Given the description of an element on the screen output the (x, y) to click on. 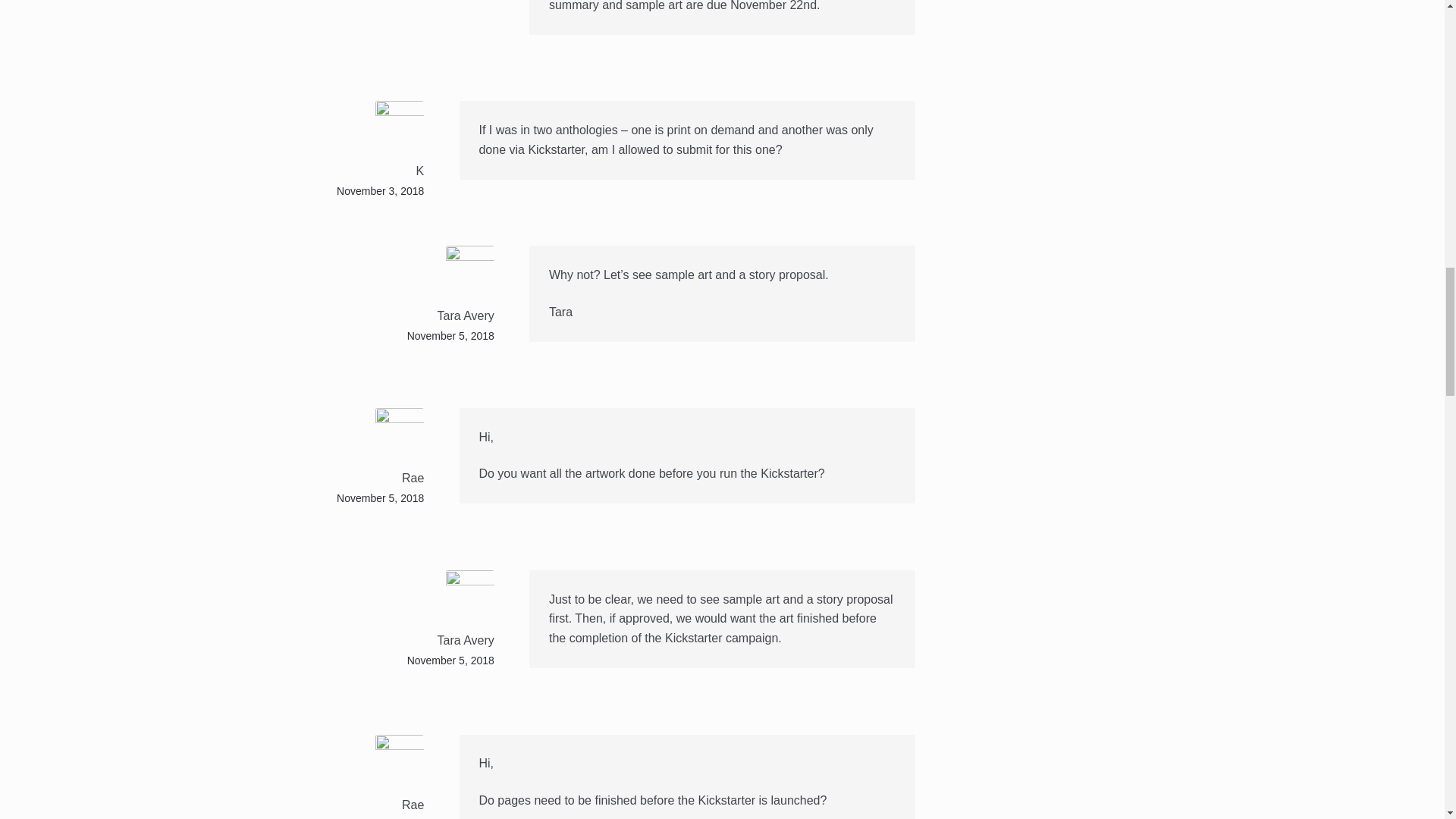
November 5, 2018 (451, 336)
November 3, 2018 (379, 191)
November 5, 2018 (451, 660)
November 5, 2018 (379, 498)
